Given the description of an element on the screen output the (x, y) to click on. 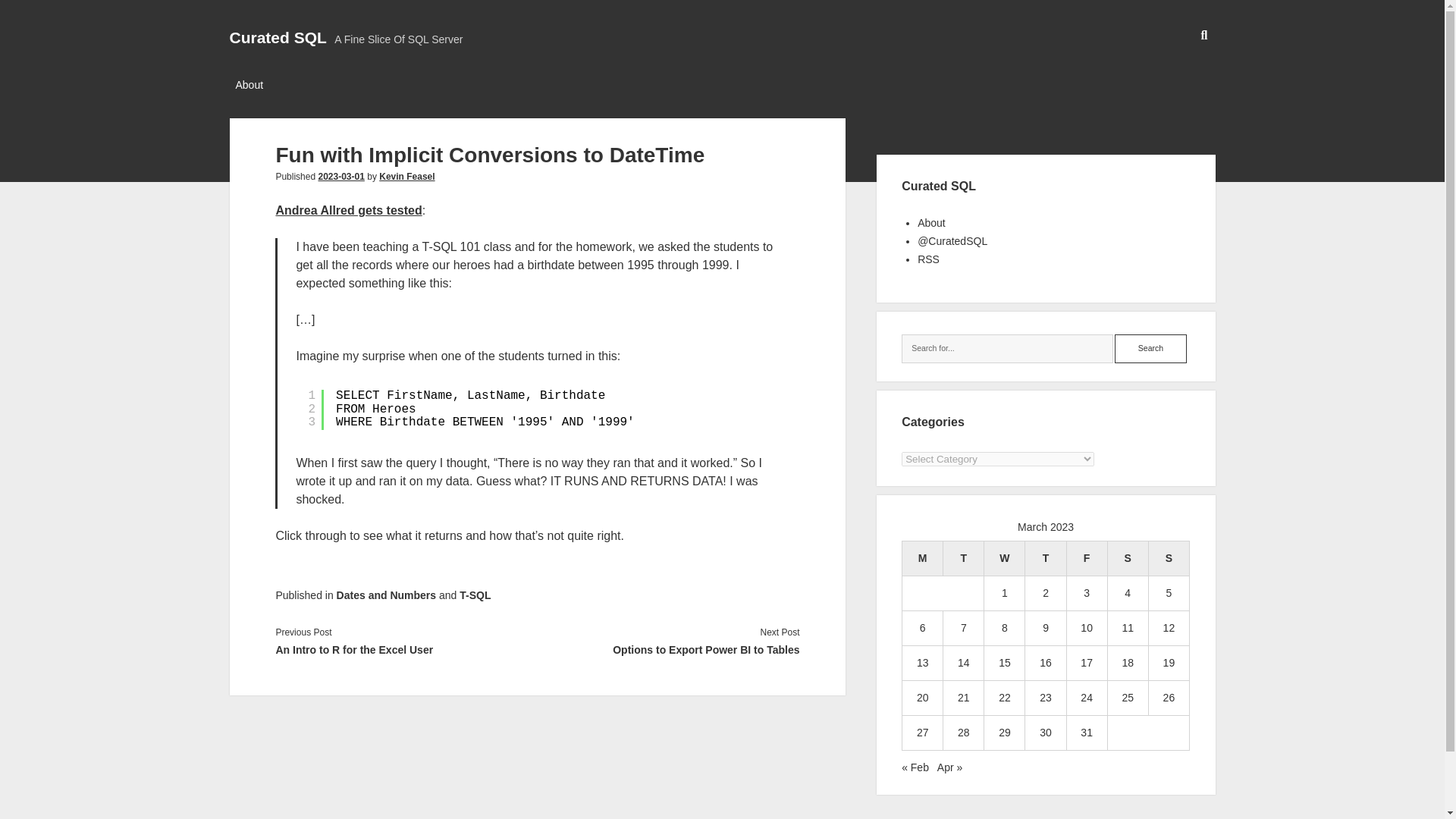
27 (922, 732)
RSS (928, 259)
Monday (922, 557)
T-SQL (475, 594)
Tuesday (963, 557)
View all posts in Dates and Numbers (385, 594)
23 (1045, 697)
20 (922, 697)
Options to Export Power BI to Tables (668, 649)
Search (1150, 348)
